Given the description of an element on the screen output the (x, y) to click on. 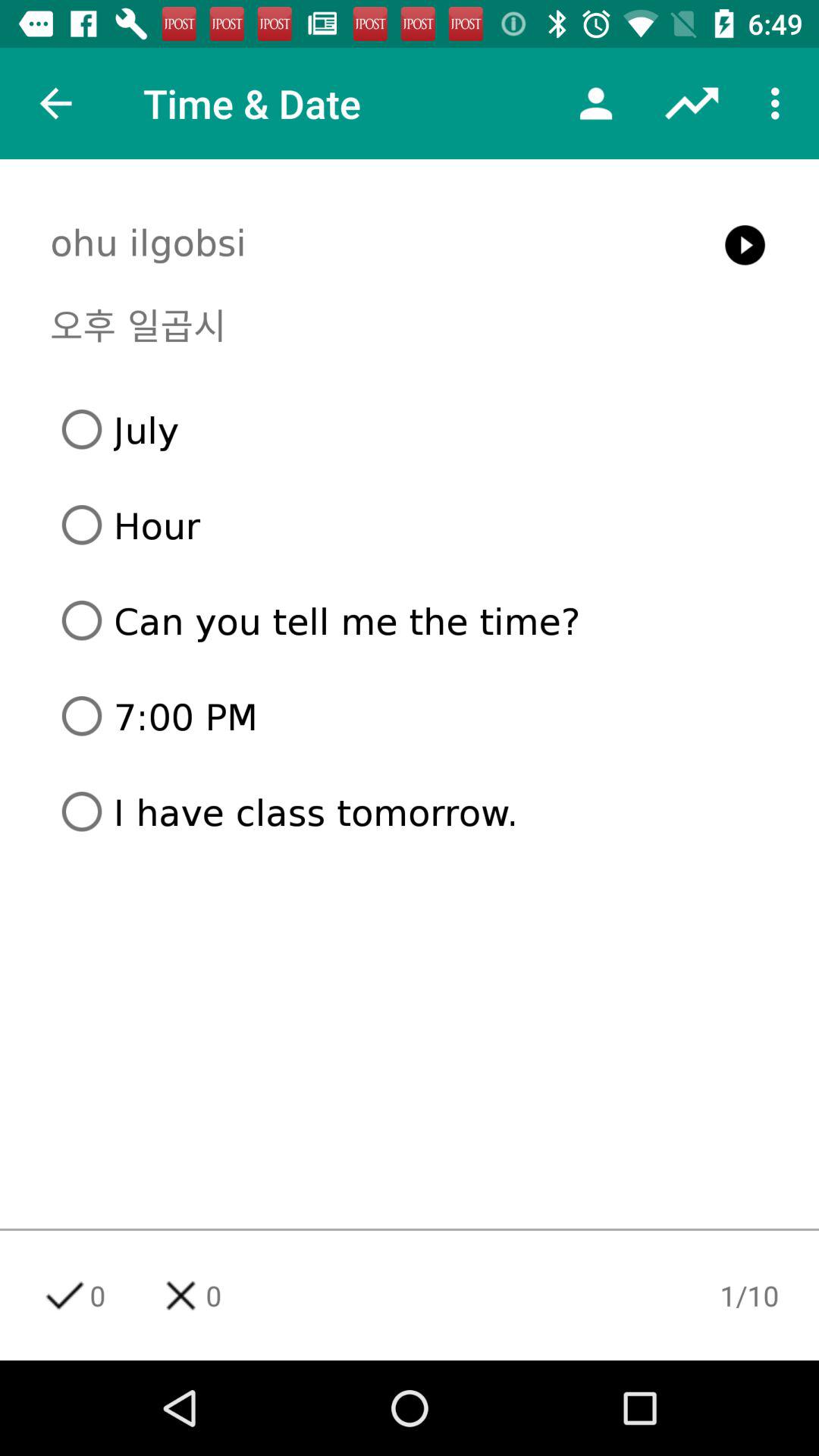
scroll to the hour icon (415, 524)
